Given the description of an element on the screen output the (x, y) to click on. 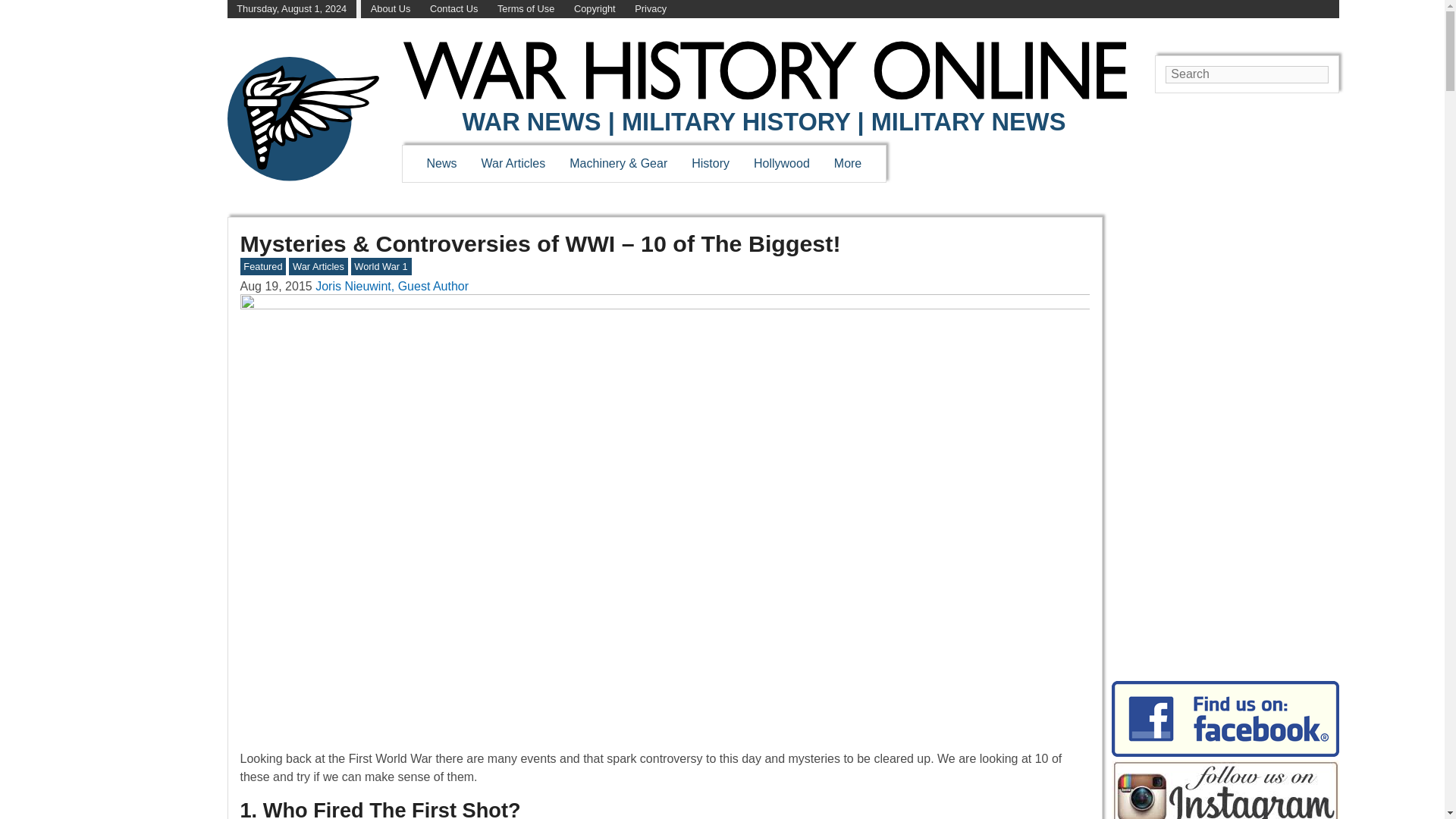
History (710, 163)
Copyright (594, 8)
News (441, 163)
Contact Us (453, 8)
Privacy (650, 8)
About Us (390, 8)
More (847, 163)
Terms of Use (525, 8)
Hollywood (781, 163)
War Articles (513, 163)
